Given the description of an element on the screen output the (x, y) to click on. 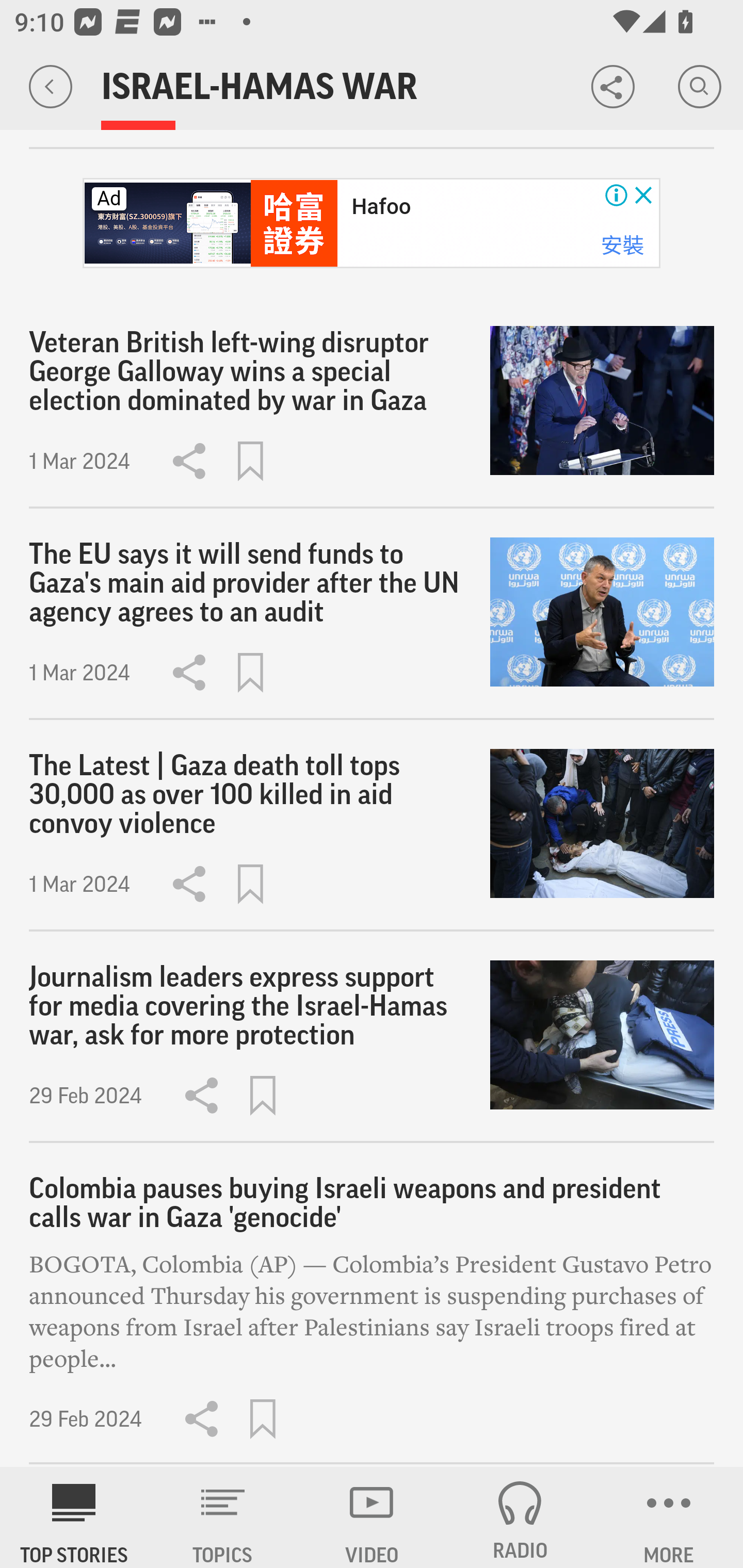
Hafoo (381, 206)
安裝 (621, 245)
AP News TOP STORIES (74, 1517)
TOPICS (222, 1517)
VIDEO (371, 1517)
RADIO (519, 1517)
MORE (668, 1517)
